Given the description of an element on the screen output the (x, y) to click on. 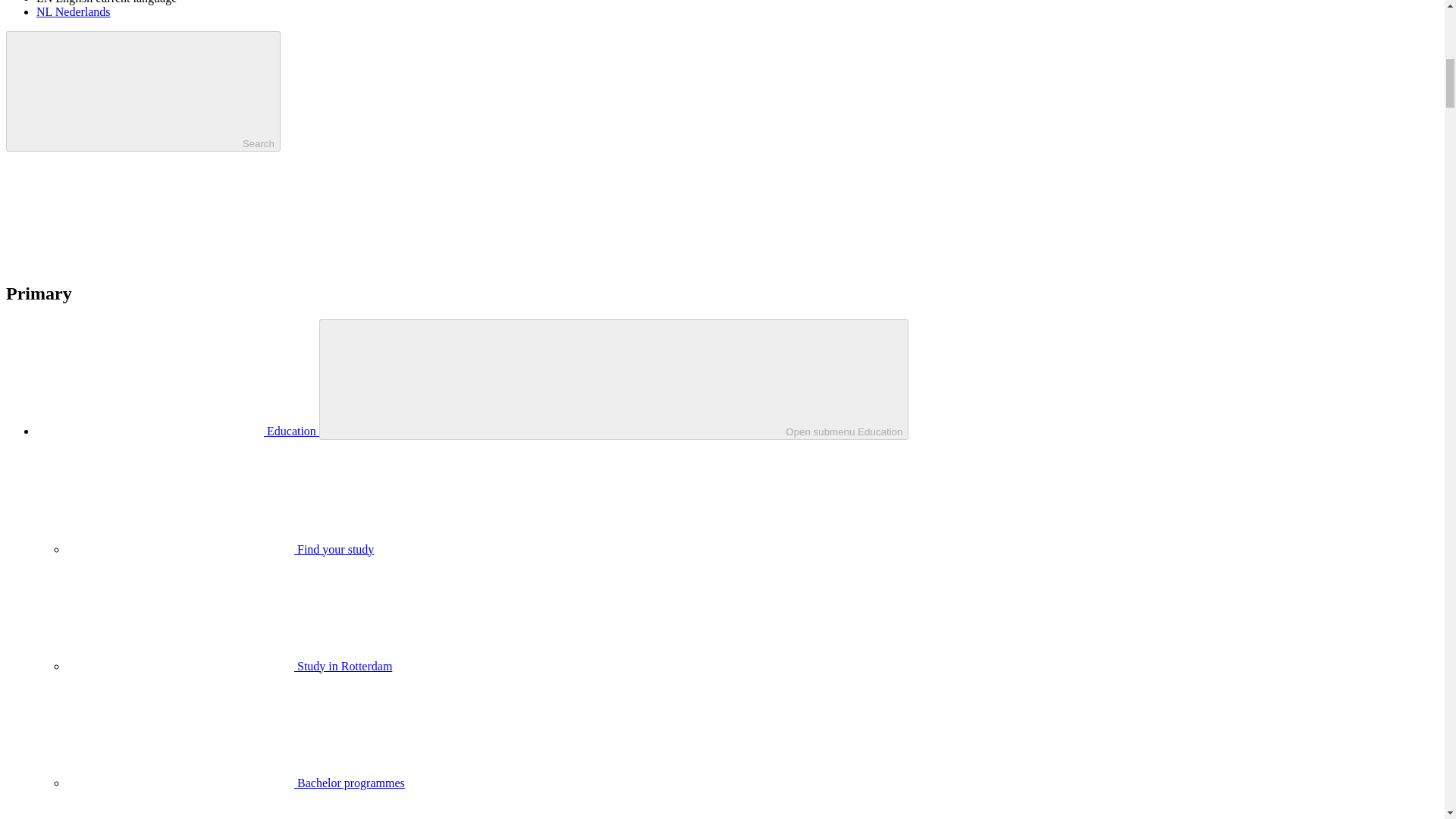
Bachelor programmes (235, 782)
Education (177, 431)
NL Nederlands (73, 11)
Open submenu Education (613, 379)
Find your study (220, 549)
Study in Rotterdam (228, 666)
Search (143, 91)
